Given the description of an element on the screen output the (x, y) to click on. 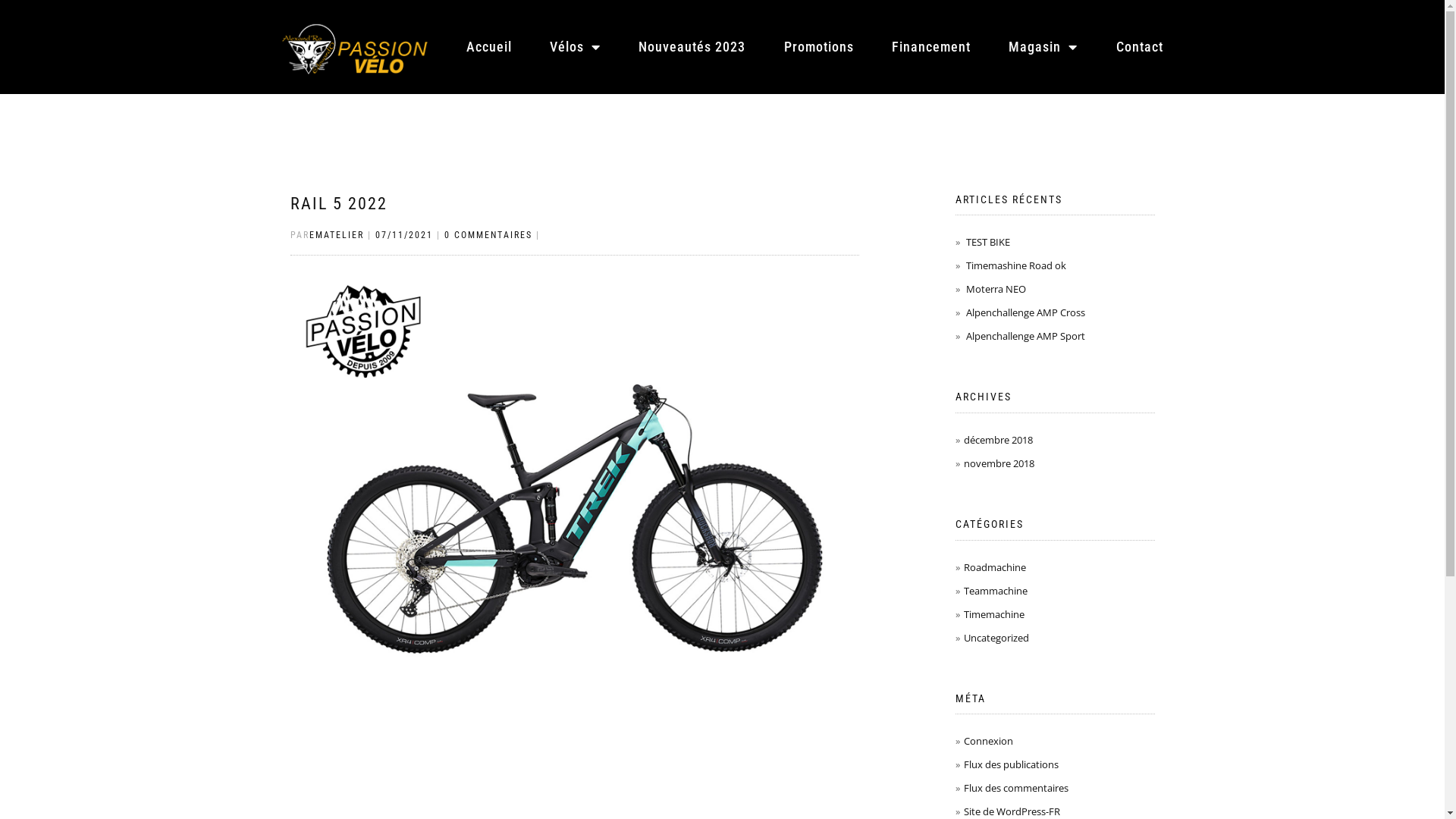
Moterra NEO Element type: text (996, 288)
Magasin Element type: text (1042, 46)
Timemashine Road ok Element type: text (1016, 265)
TEST BIKE Element type: text (988, 241)
Site de WordPress-FR Element type: text (1011, 811)
Timemachine Element type: text (993, 613)
Teammachine Element type: text (995, 590)
Alpenchallenge AMP Sport Element type: text (1025, 335)
Flux des publications Element type: text (1010, 764)
EMATELIER Element type: text (336, 234)
Alpenchallenge AMP Cross Element type: text (1025, 312)
07/11/2021 Element type: text (403, 234)
Roadmachine Element type: text (994, 566)
Flux des commentaires Element type: text (1015, 787)
RAIL 5 2022 Element type: text (337, 203)
Accueil Element type: text (488, 46)
Connexion Element type: text (988, 740)
Financement Element type: text (930, 46)
0 COMMENTAIRES Element type: text (488, 234)
Contact Element type: text (1139, 46)
Uncategorized Element type: text (996, 637)
Promotions Element type: text (818, 46)
novembre 2018 Element type: text (998, 463)
